Given the description of an element on the screen output the (x, y) to click on. 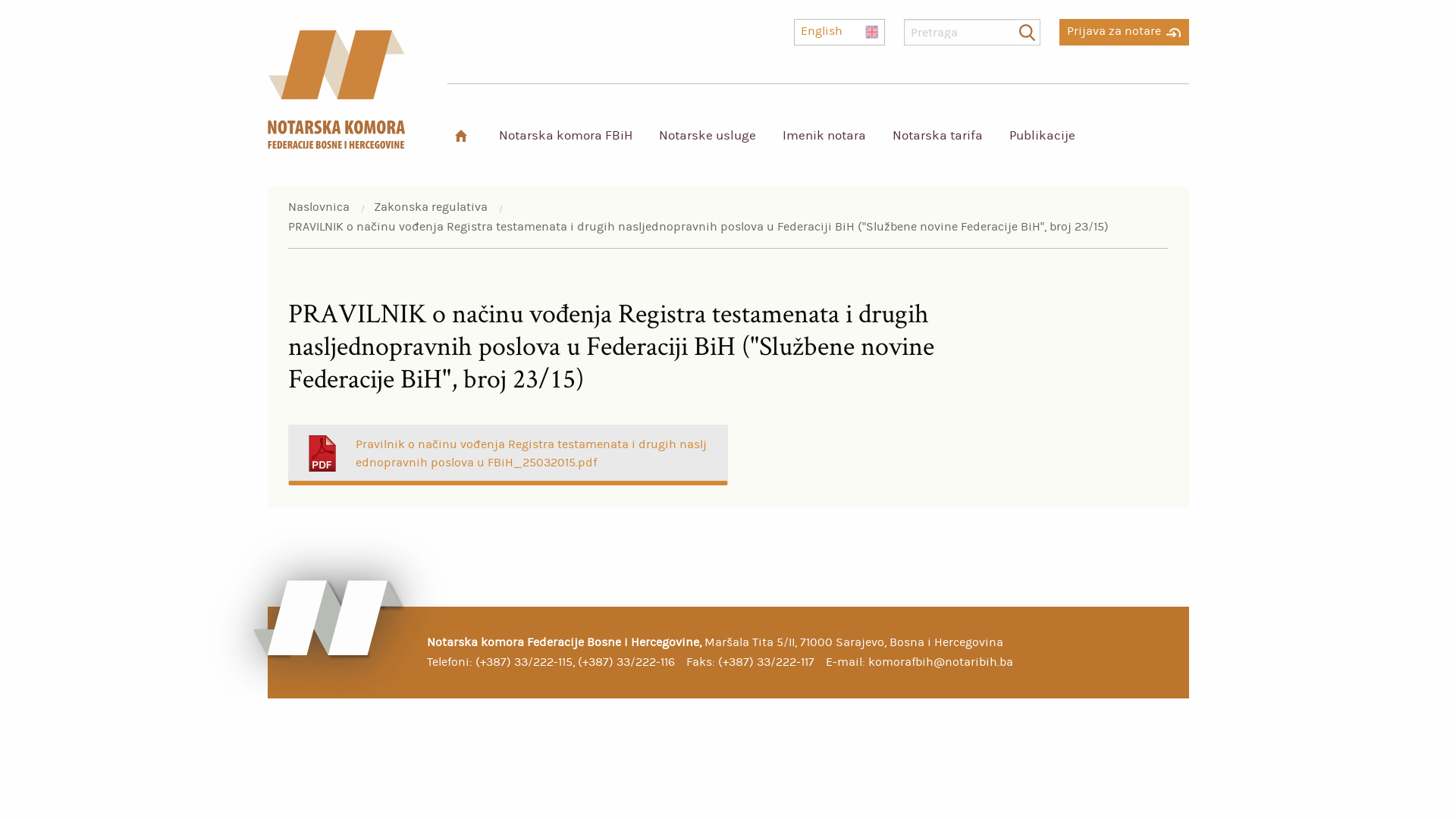
Zakonska regulativa Element type: text (430, 206)
Notarske usluge Element type: text (707, 135)
Publikacije Element type: text (1042, 135)
Prijava za notare Element type: text (1123, 27)
Notarska komora FBiH Element type: text (564, 135)
H Element type: text (461, 135)
Notarska tarifa Element type: text (937, 135)
Imenik notara Element type: text (823, 135)
Naslovnica Element type: text (318, 206)
Enter the terms you wish to search for. Element type: hover (971, 31)
Pretraga Element type: text (1026, 32)
English Element type: text (839, 31)
Skip to main content Element type: text (0, 0)
